Given the description of an element on the screen output the (x, y) to click on. 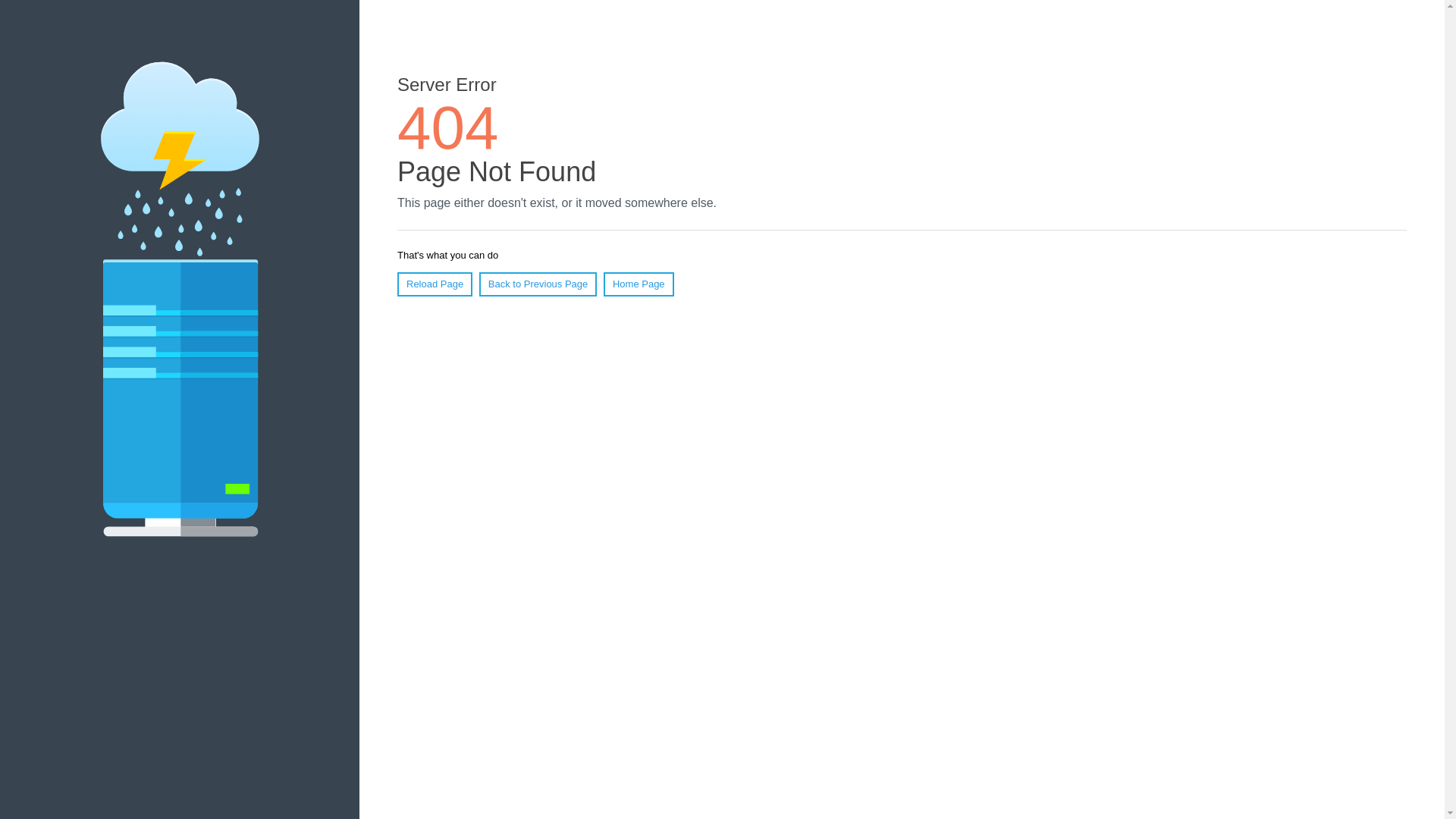
Reload Page Element type: text (434, 284)
Back to Previous Page Element type: text (538, 284)
Home Page Element type: text (638, 284)
